Given the description of an element on the screen output the (x, y) to click on. 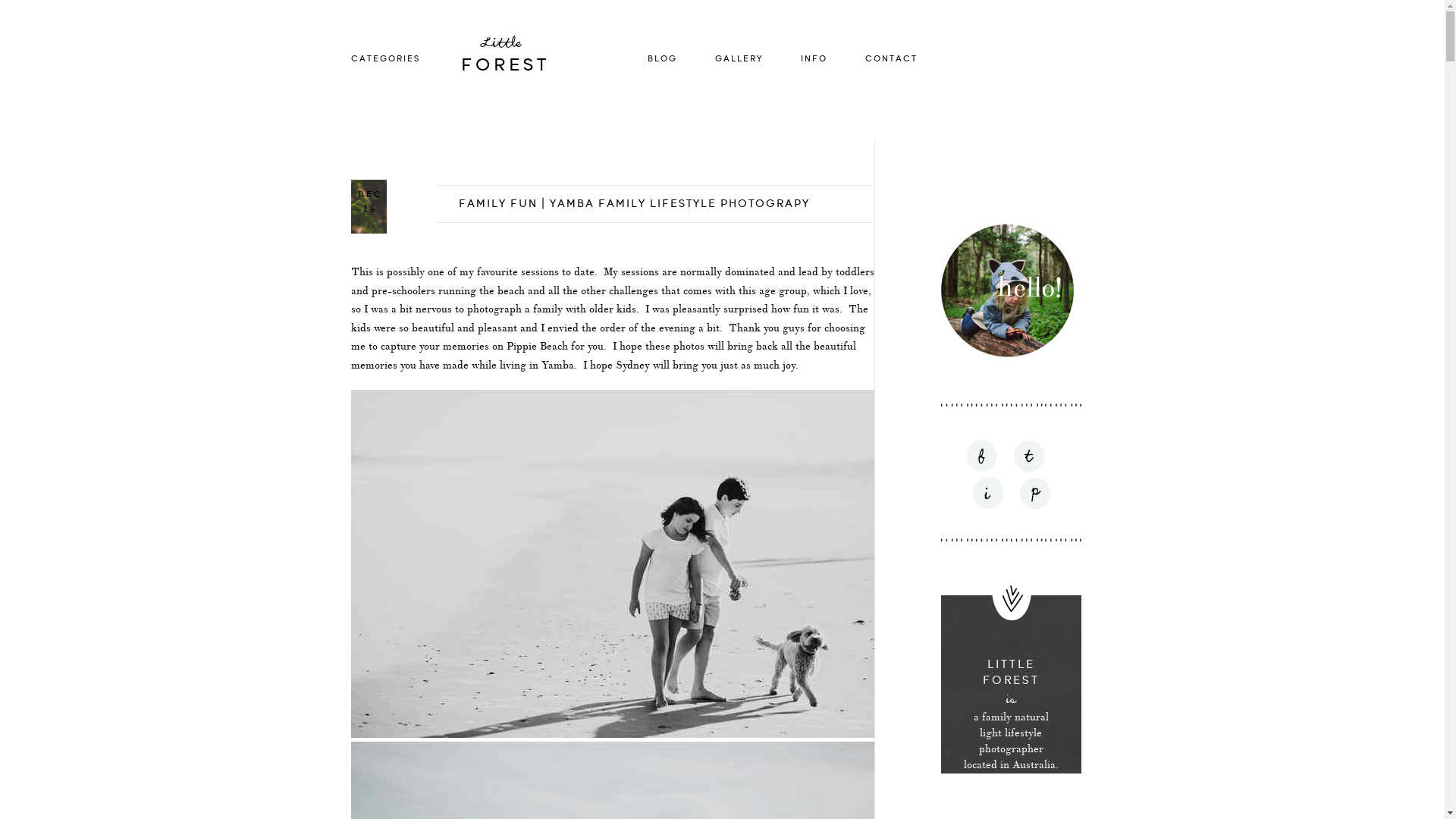
CONTACT Element type: text (890, 58)
BLOG Element type: text (662, 58)
CATEGORIES Element type: text (384, 58)
INFO Element type: text (813, 58)
Yamba family photographer Element type: hover (611, 563)
GALLERY Element type: text (738, 58)
Little
F O R E S T Element type: text (533, 58)
